Given the description of an element on the screen output the (x, y) to click on. 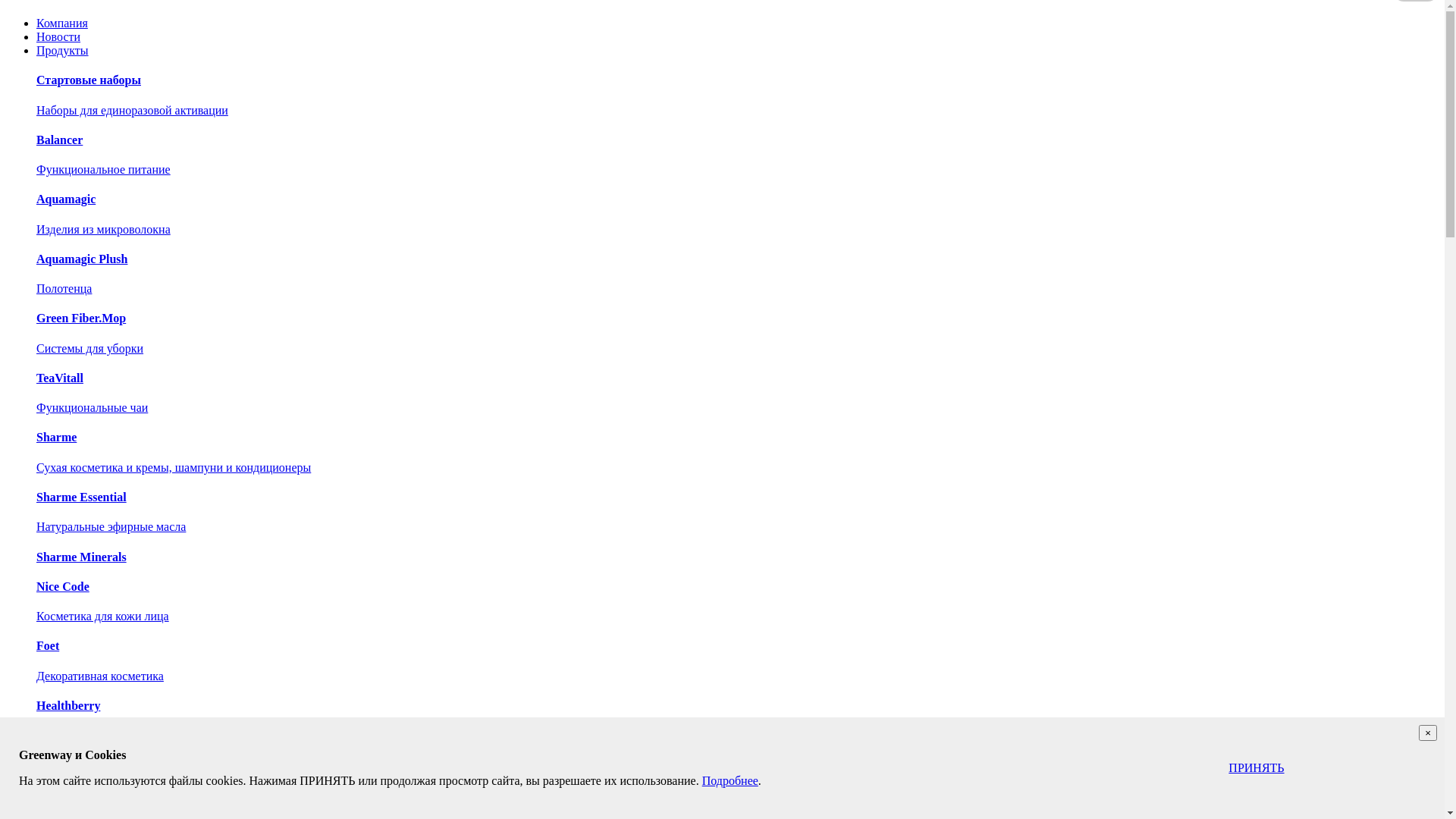
Foet Element type: text (47, 645)
BioTrim Element type: text (57, 764)
Balancer Element type: text (59, 139)
Aquamagic Element type: text (65, 198)
Nice Code Element type: text (62, 586)
Sharme Minerals Element type: text (81, 556)
Sharme Essential Element type: text (81, 496)
Aquamagic Plush Element type: text (81, 258)
Healthberry Element type: text (68, 705)
Green Fiber.Mop Element type: text (80, 317)
Sharme Element type: text (56, 436)
TeaVitall Element type: text (59, 377)
